Given the description of an element on the screen output the (x, y) to click on. 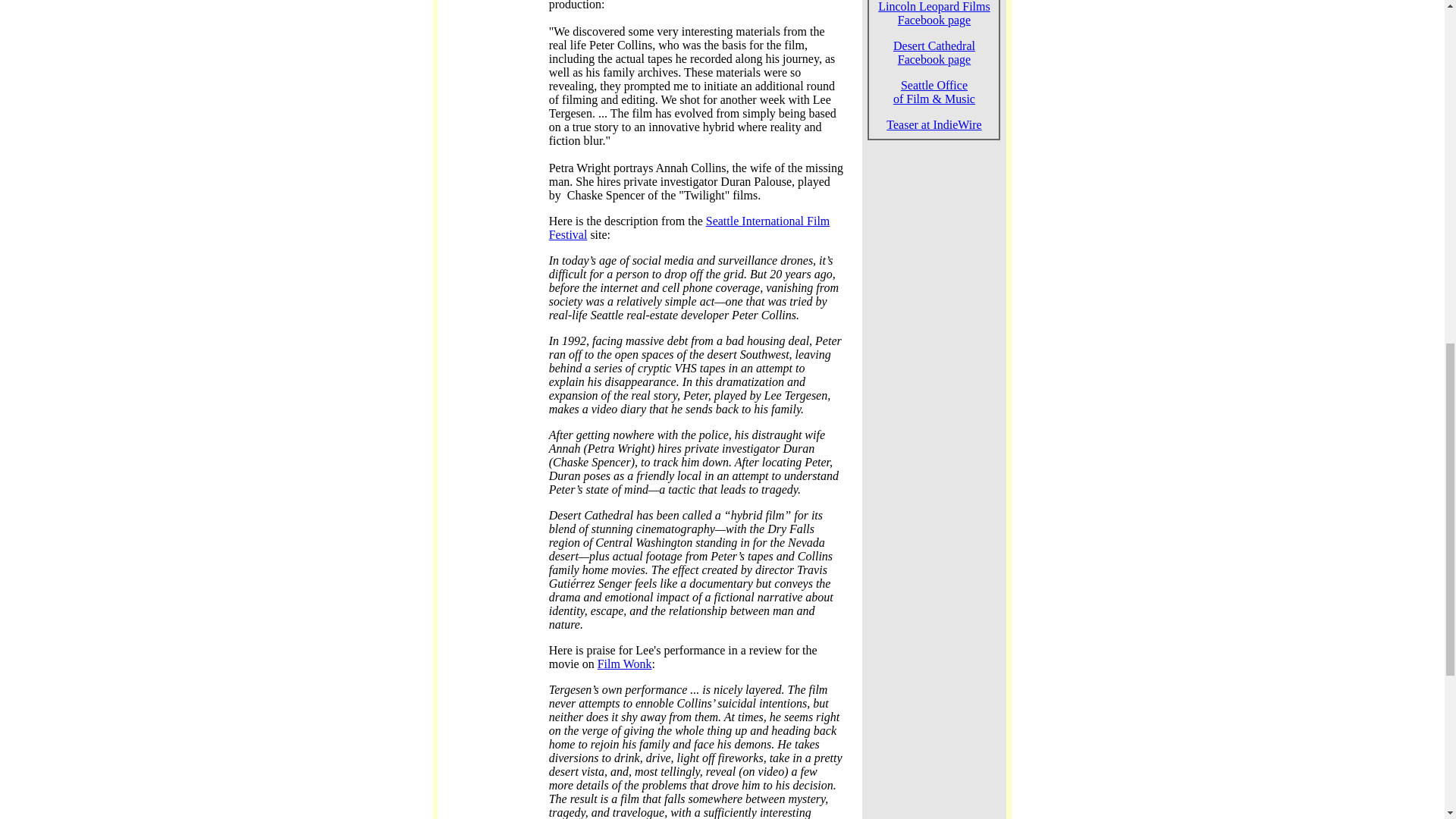
Teaser at IndieWire (933, 124)
Seattle Office (934, 84)
Seattle International Film Festival (688, 227)
Film Wonk (624, 663)
